Given the description of an element on the screen output the (x, y) to click on. 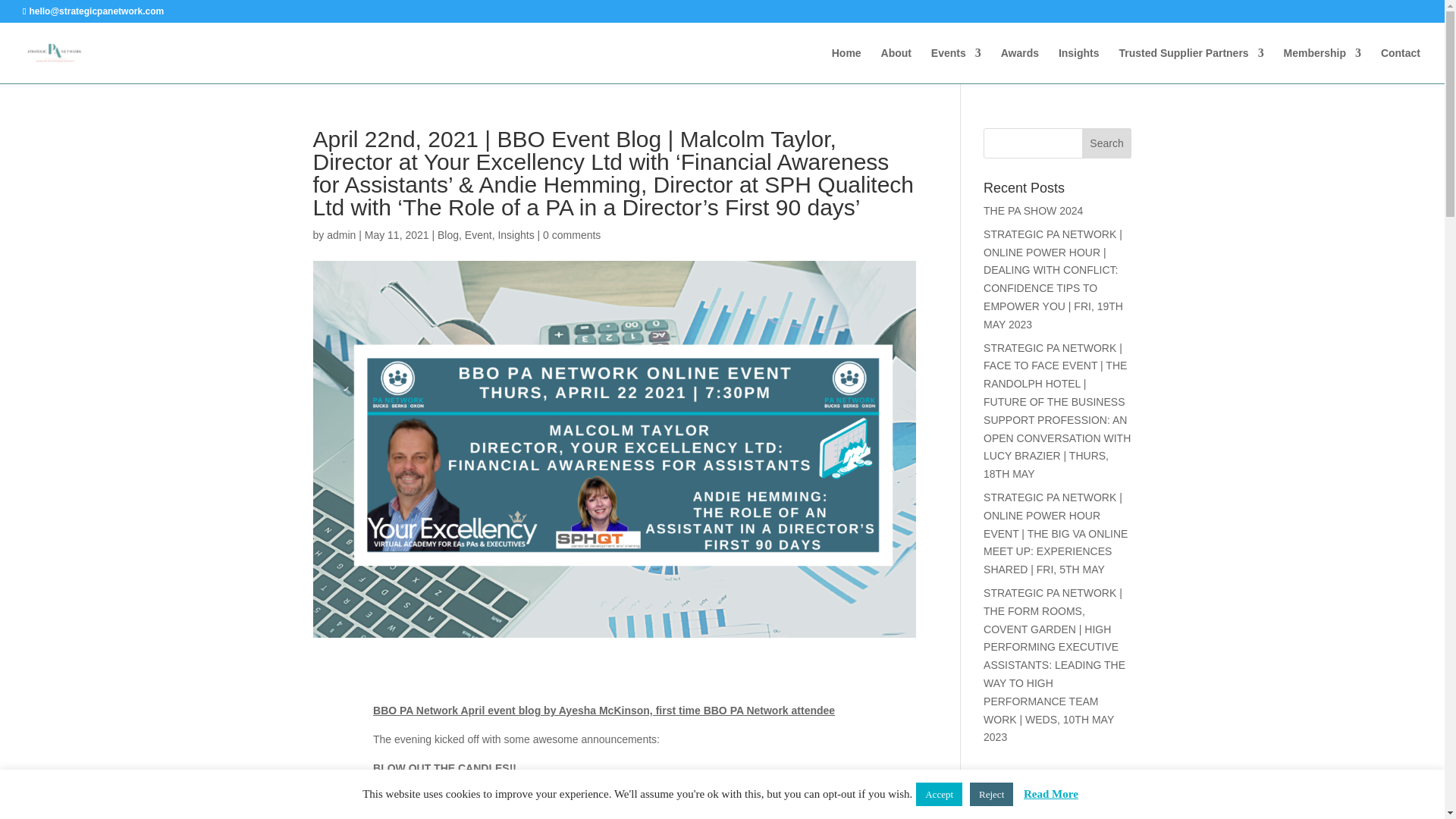
Insights (1078, 65)
Home (846, 65)
Events (956, 65)
Contact (1400, 65)
Search (1106, 142)
Trusted Supplier Partners (1190, 65)
Event (478, 234)
Awards (1020, 65)
About (895, 65)
0 comments (571, 234)
Blog (448, 234)
Posts by admin (340, 234)
admin (340, 234)
Insights (515, 234)
Membership (1322, 65)
